Given the description of an element on the screen output the (x, y) to click on. 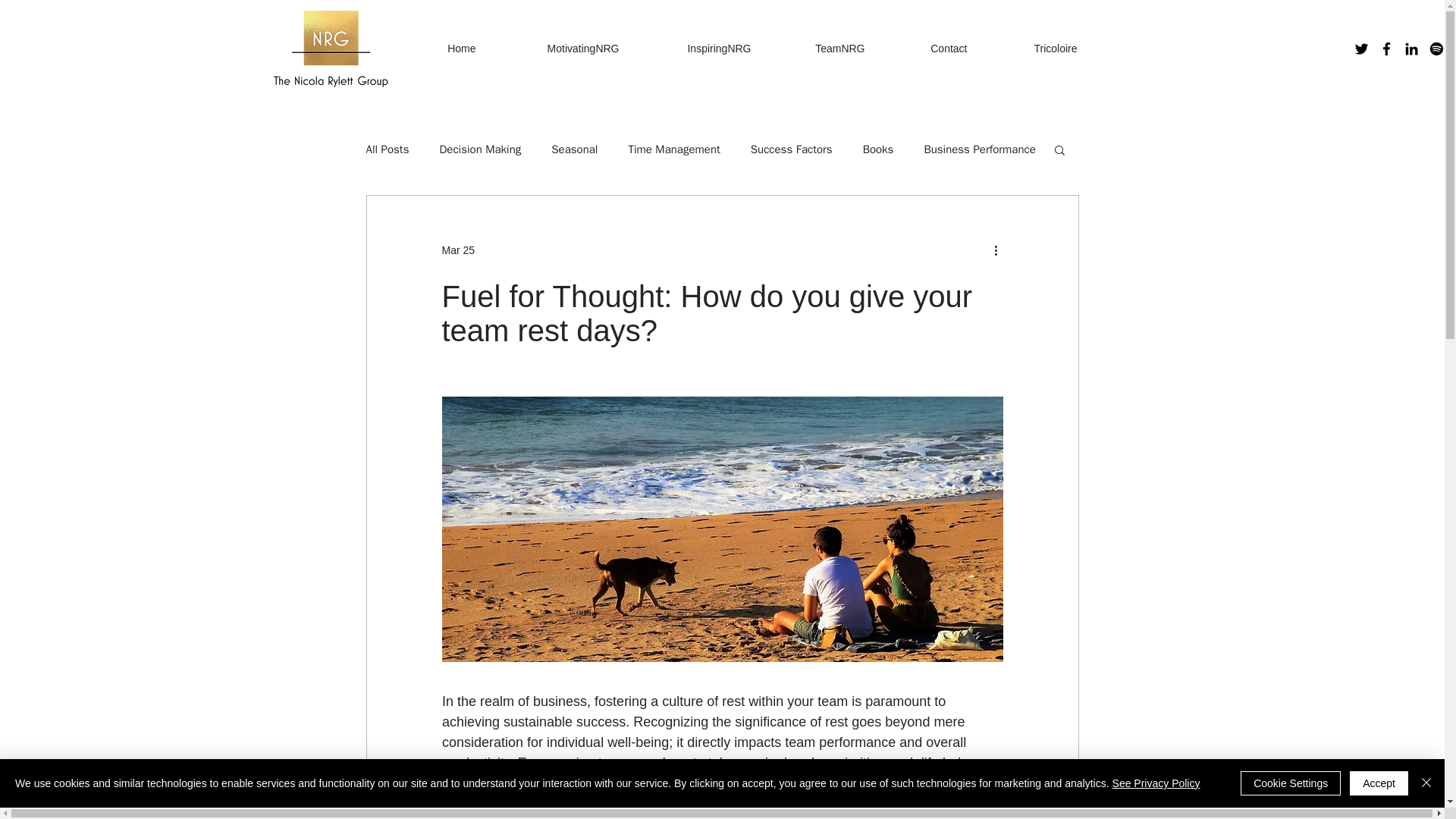
Mar 25 (457, 250)
All Posts (387, 149)
Success Factors (791, 149)
Decision Making (480, 149)
Books (878, 149)
Time Management (673, 149)
Home (436, 47)
Business Performance (979, 149)
Seasonal (573, 149)
TeamNRG (815, 47)
Contact (923, 47)
Tricoloire (1029, 47)
